Given the description of an element on the screen output the (x, y) to click on. 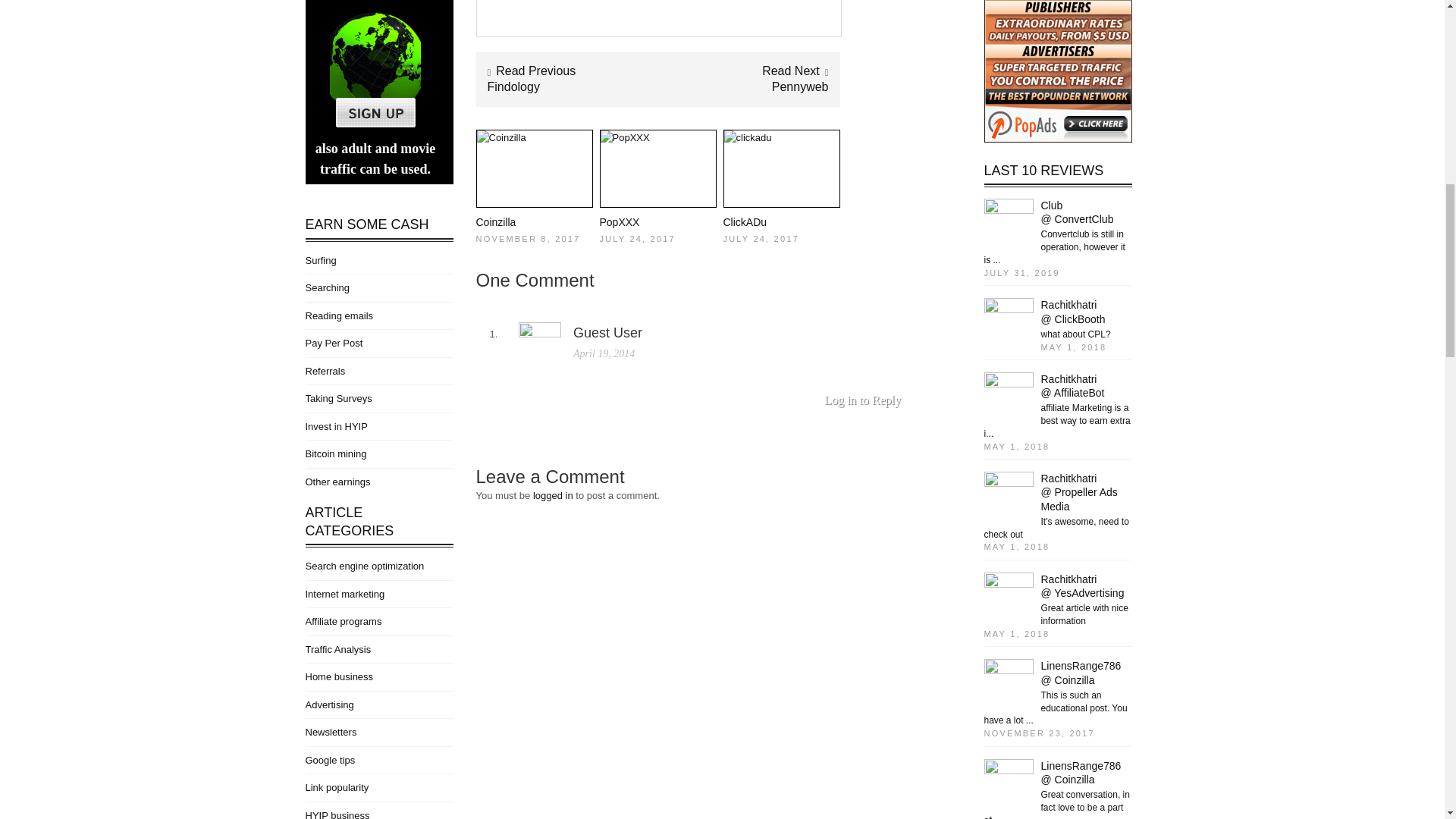
Searching (326, 287)
Search engine optimization (363, 565)
Pay Per Post (333, 342)
Internet marketing (344, 593)
Taking Surveys (337, 398)
Referrals (324, 370)
Other earnings (336, 481)
Reading emails (338, 315)
Affiliate programs (342, 621)
Bitcoin mining (335, 453)
Surfing (320, 260)
Invest in HYIP (335, 426)
